Given the description of an element on the screen output the (x, y) to click on. 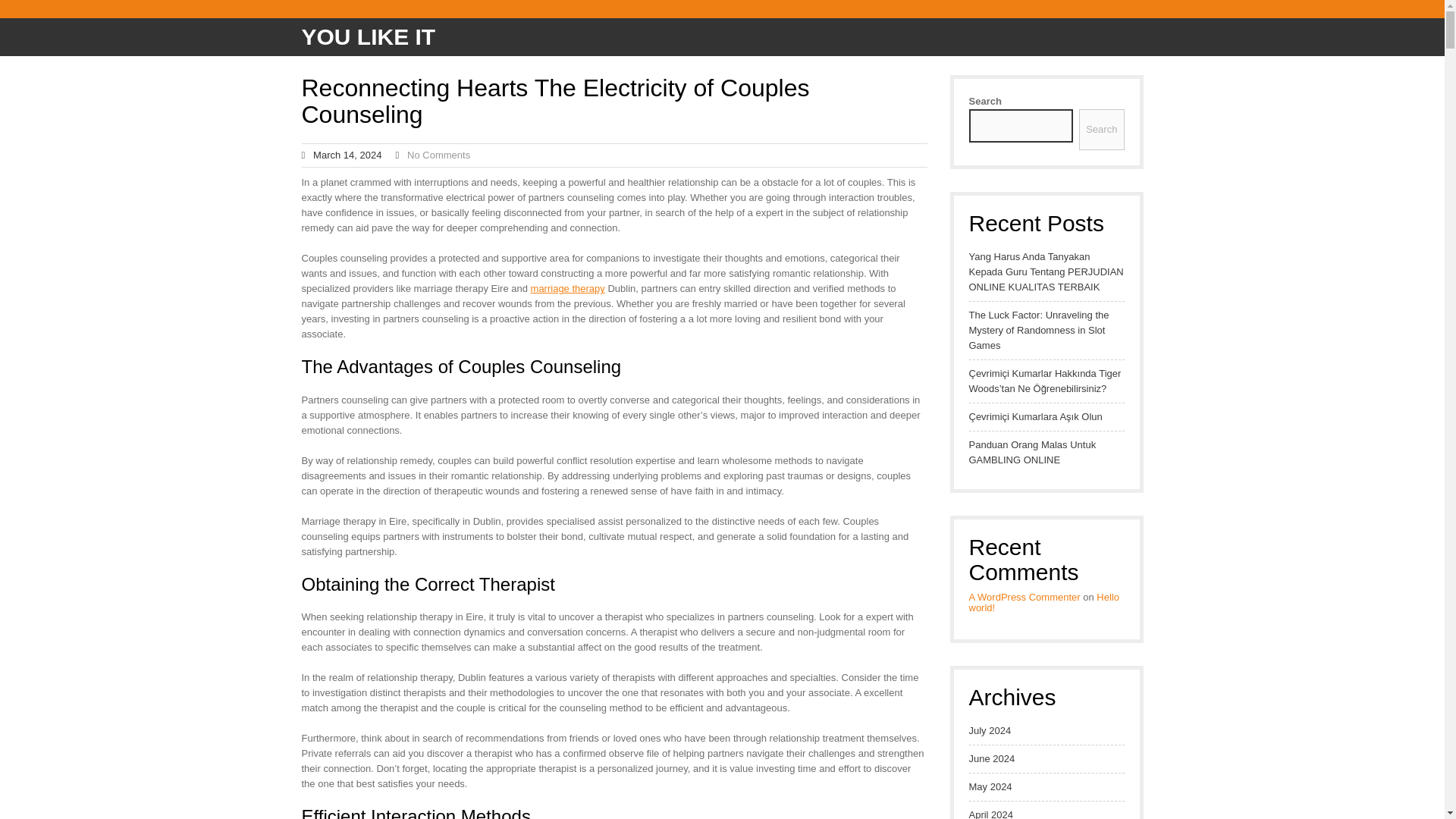
July 2024 (990, 730)
marriage therapy (568, 288)
Panduan Orang Malas Untuk GAMBLING ONLINE (1046, 452)
June 2024 (991, 758)
Hello world! (1044, 602)
Search (1101, 128)
YOU LIKE IT (368, 36)
A WordPress Commenter (1024, 596)
April 2024 (991, 813)
No Comments (438, 154)
May 2024 (990, 786)
